Given the description of an element on the screen output the (x, y) to click on. 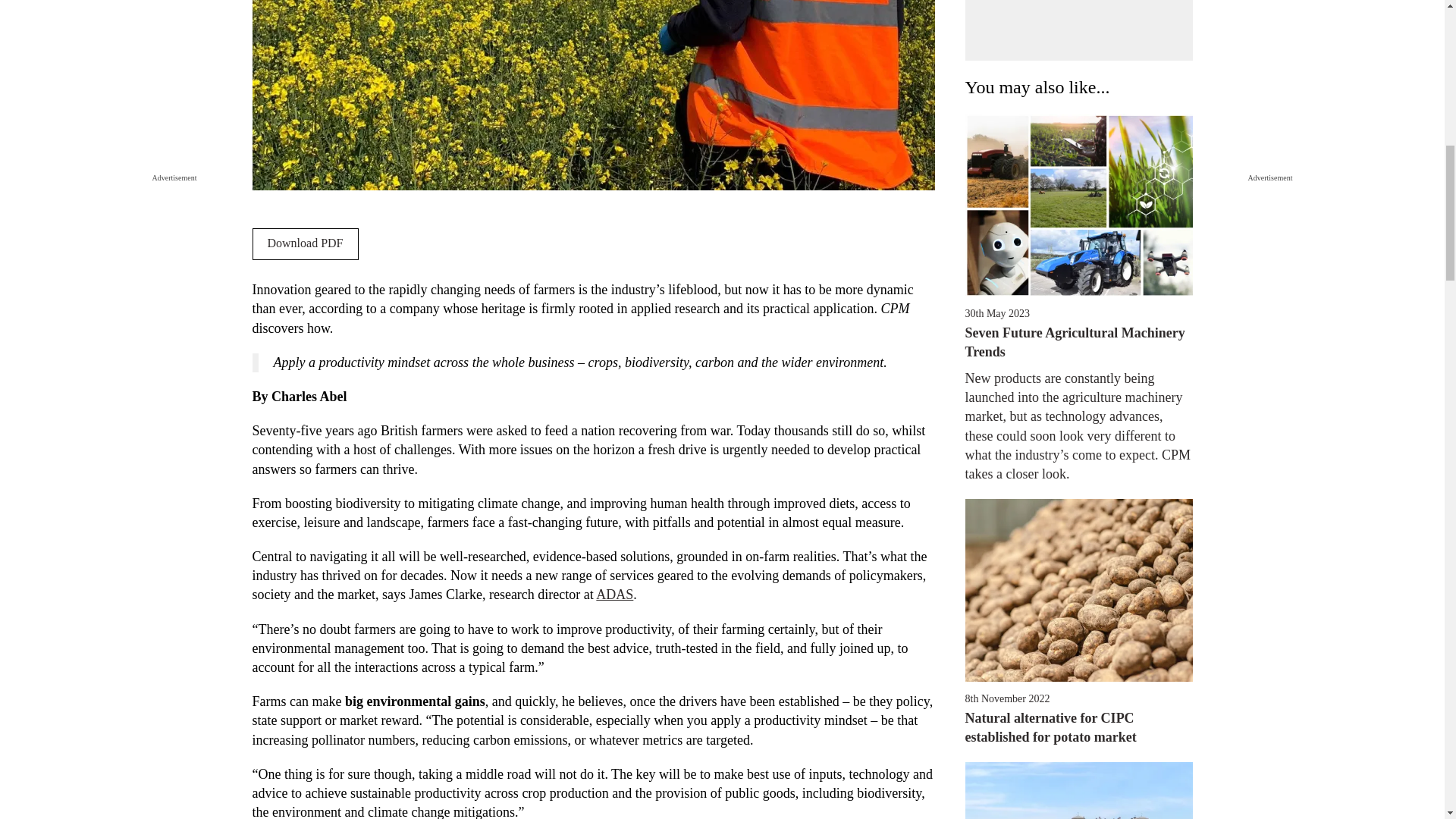
Download PDF (304, 244)
ADAS (614, 594)
advertisement (1077, 790)
